Given the description of an element on the screen output the (x, y) to click on. 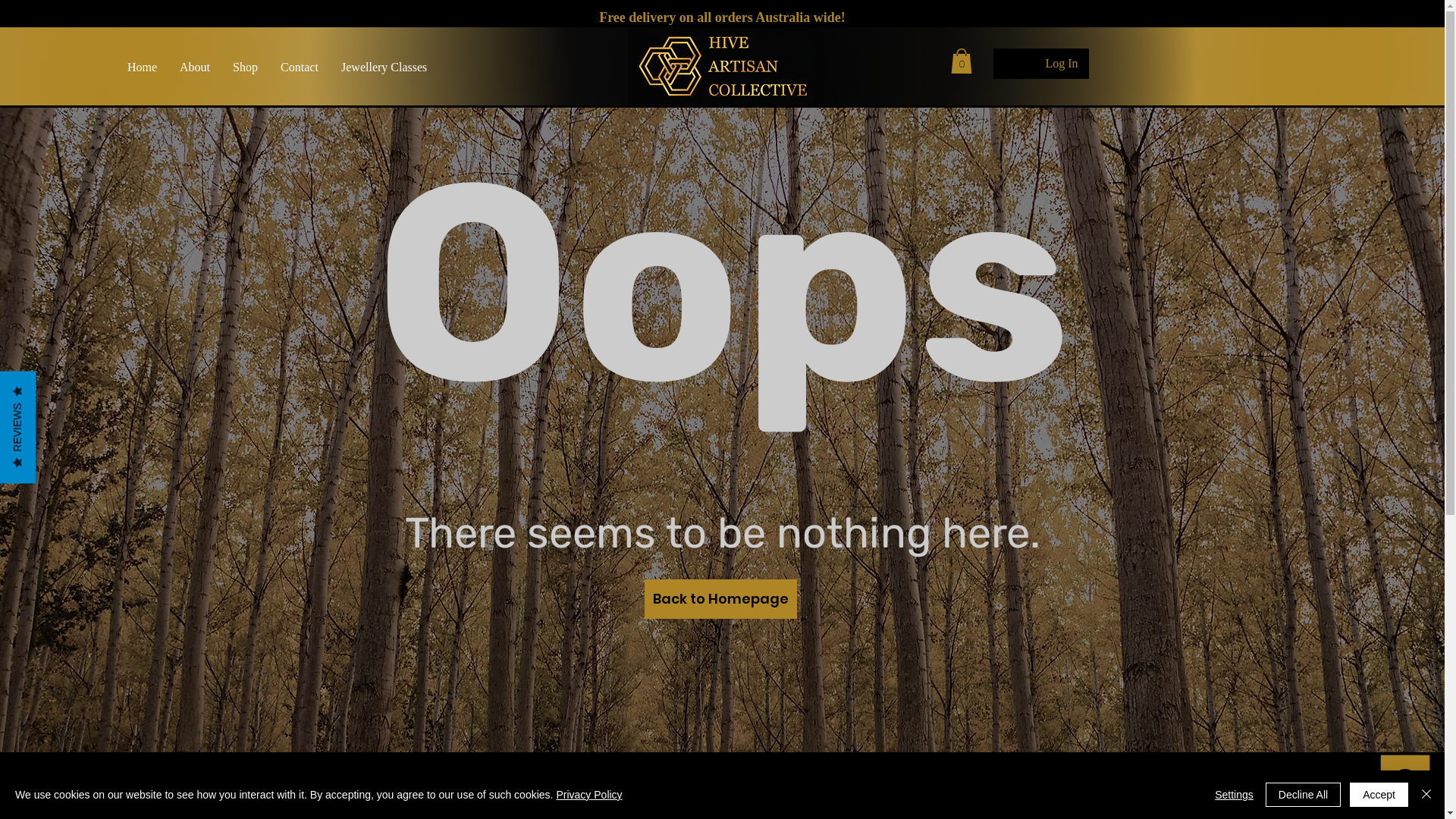
0 Element type: text (961, 60)
Jewellery Classes Element type: text (383, 67)
Back to Homepage Element type: text (720, 598)
Accept Element type: text (1378, 794)
Contact Element type: text (299, 67)
 REVIEWS  Element type: text (56, 388)
About Element type: text (194, 67)
Log In Element type: text (1061, 63)
Privacy Policy Element type: text (588, 794)
Home Element type: text (142, 67)
Shop Element type: text (245, 67)
Decline All Element type: text (1302, 794)
